Given the description of an element on the screen output the (x, y) to click on. 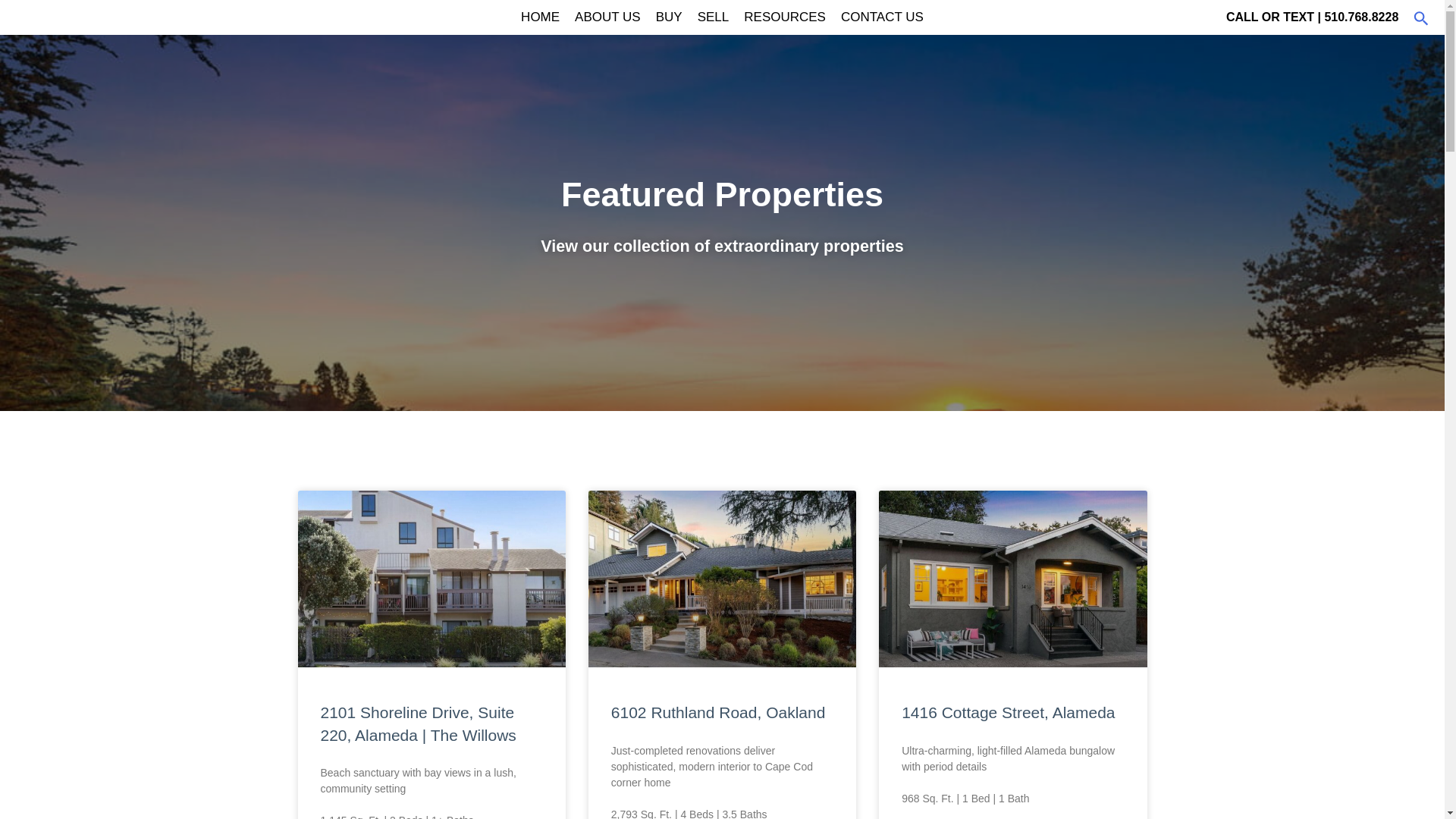
BUY (668, 17)
RESOURCES (784, 17)
1416 Cottage Street, Alameda (1008, 712)
CONTACT US (881, 17)
HOME (540, 17)
SELL (713, 17)
6102 Ruthland Road, Oakland (718, 712)
ABOUT US (607, 17)
